Given the description of an element on the screen output the (x, y) to click on. 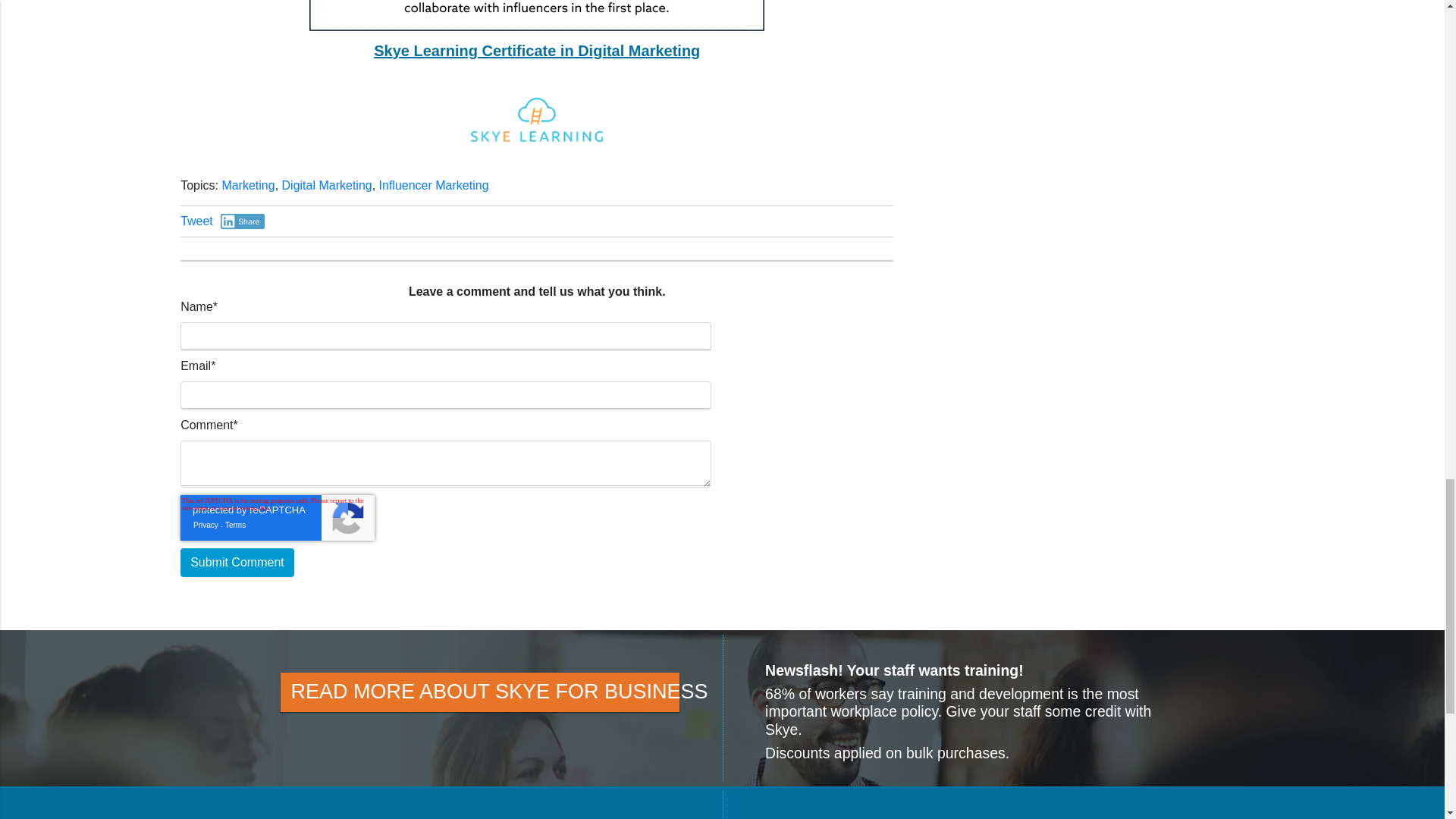
Submit Comment (237, 562)
reCAPTCHA (277, 517)
